Given the description of an element on the screen output the (x, y) to click on. 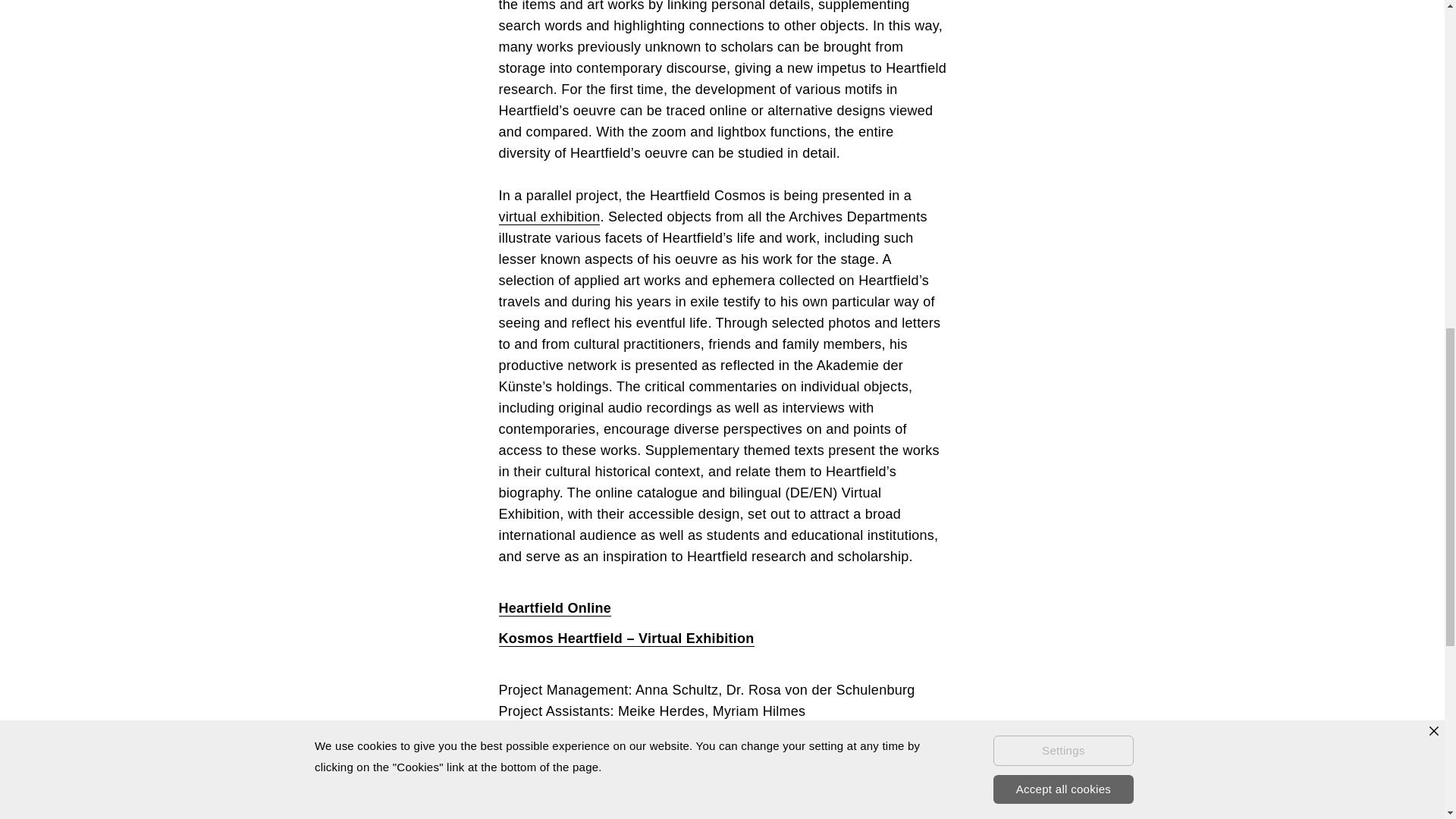
Heartfield Online (555, 608)
virtual exhibition (549, 217)
